Given the description of an element on the screen output the (x, y) to click on. 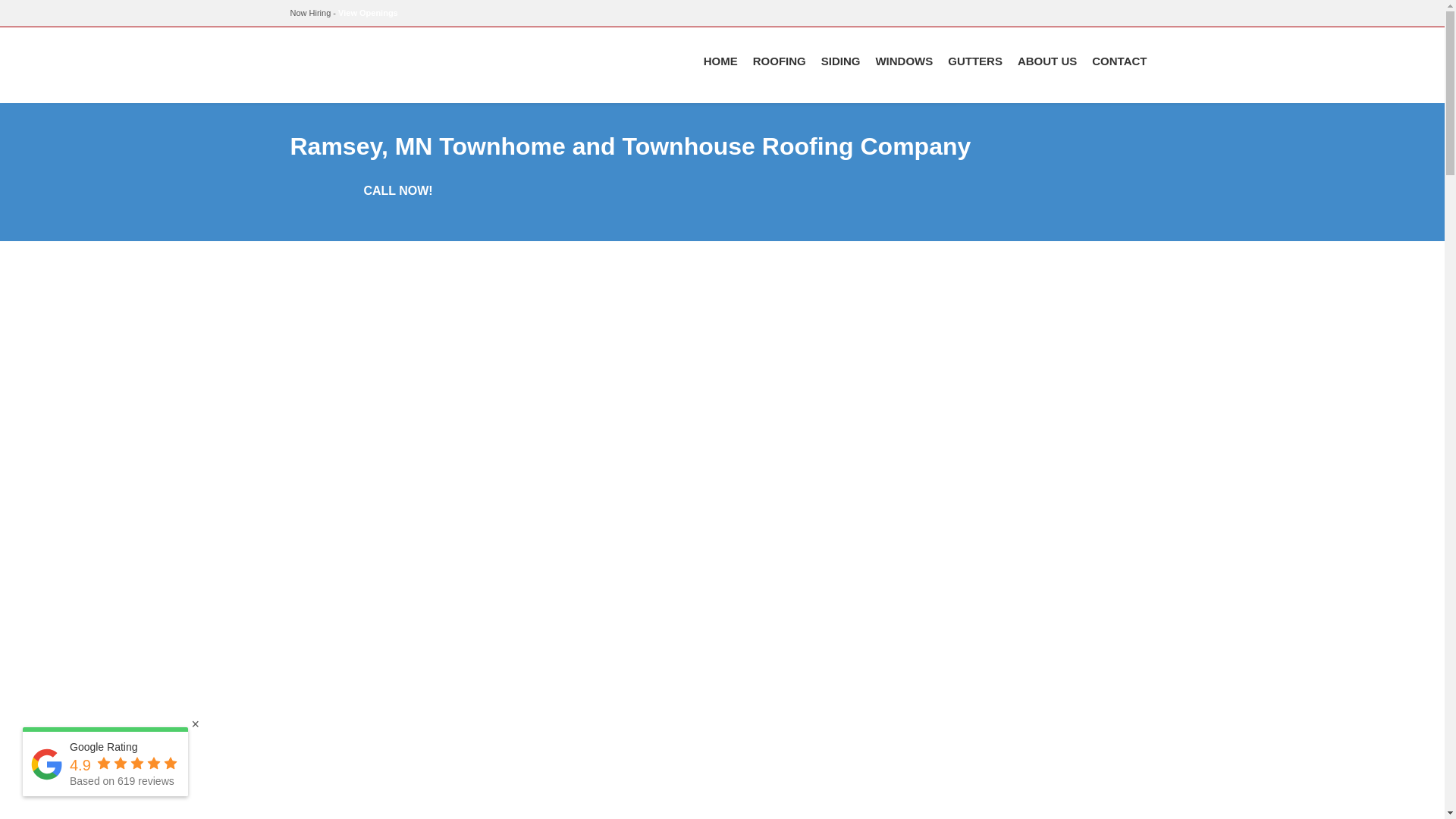
ABOUT US (1047, 61)
ROOFING (779, 61)
WINDOWS (903, 61)
View Openings (367, 12)
Call Now! (398, 190)
GUTTERS (975, 61)
CONTACT (1119, 61)
